Given the description of an element on the screen output the (x, y) to click on. 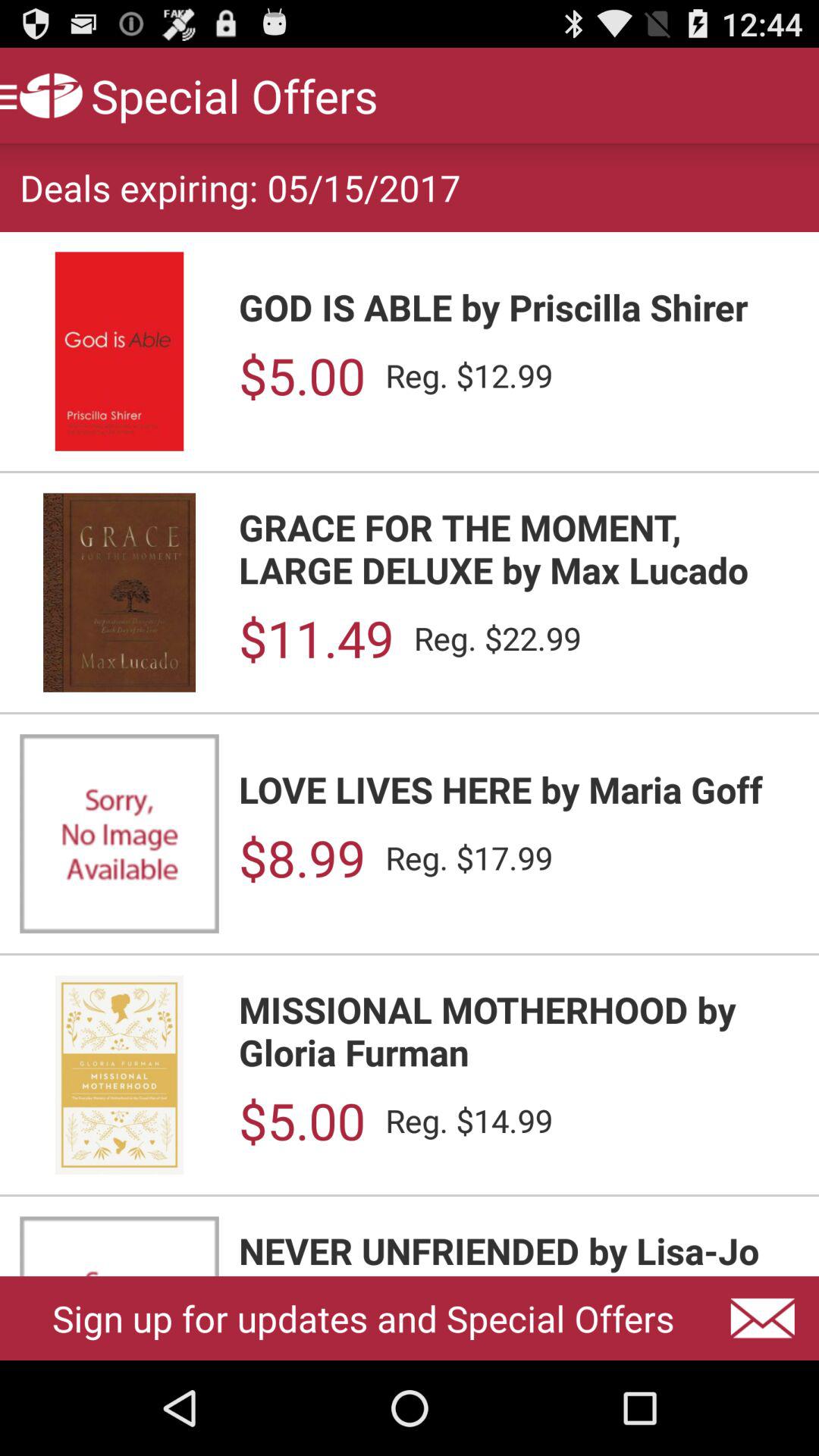
scroll to the grace for the app (518, 548)
